Given the description of an element on the screen output the (x, y) to click on. 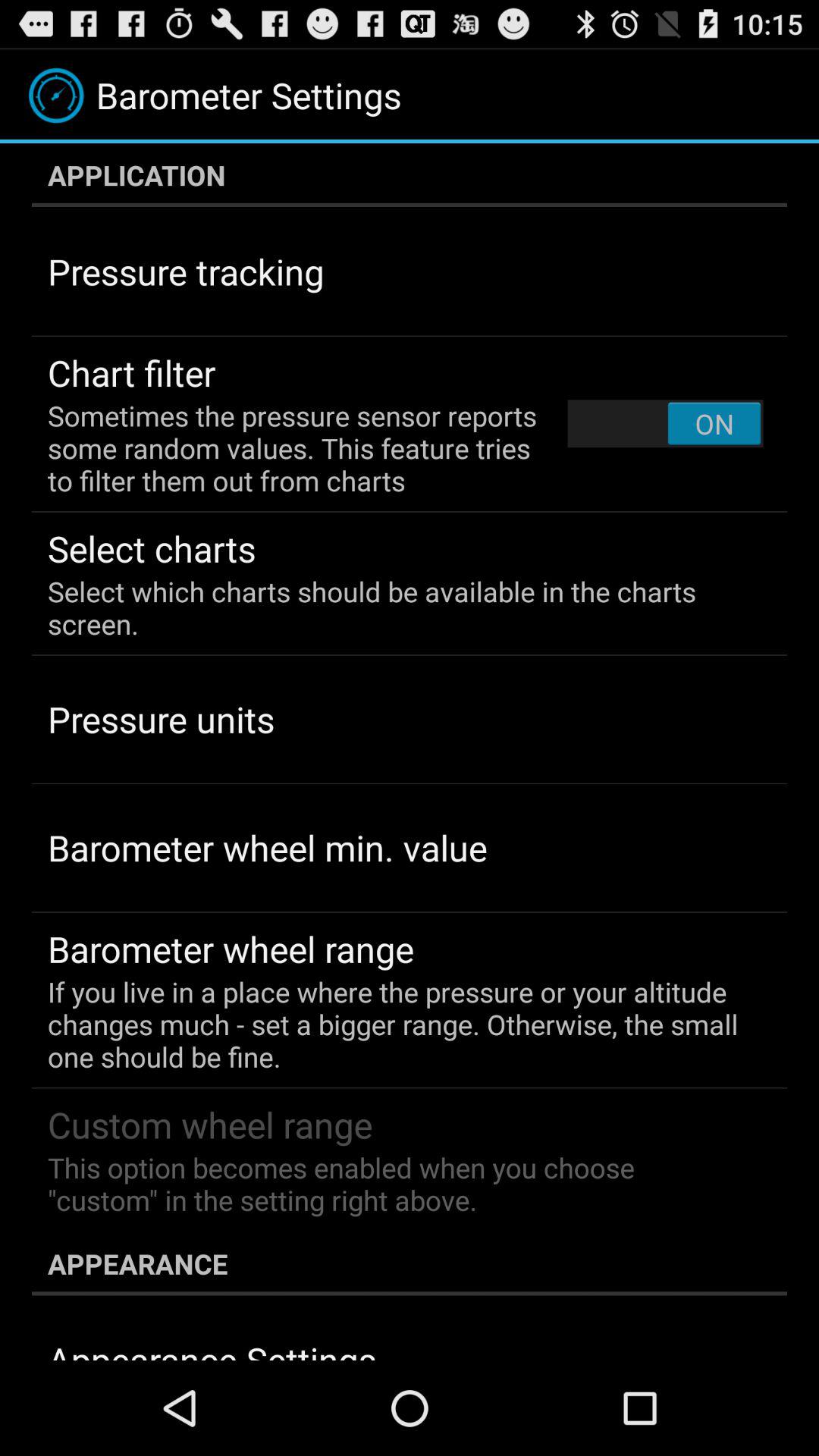
select app above the custom wheel range app (399, 1024)
